Given the description of an element on the screen output the (x, y) to click on. 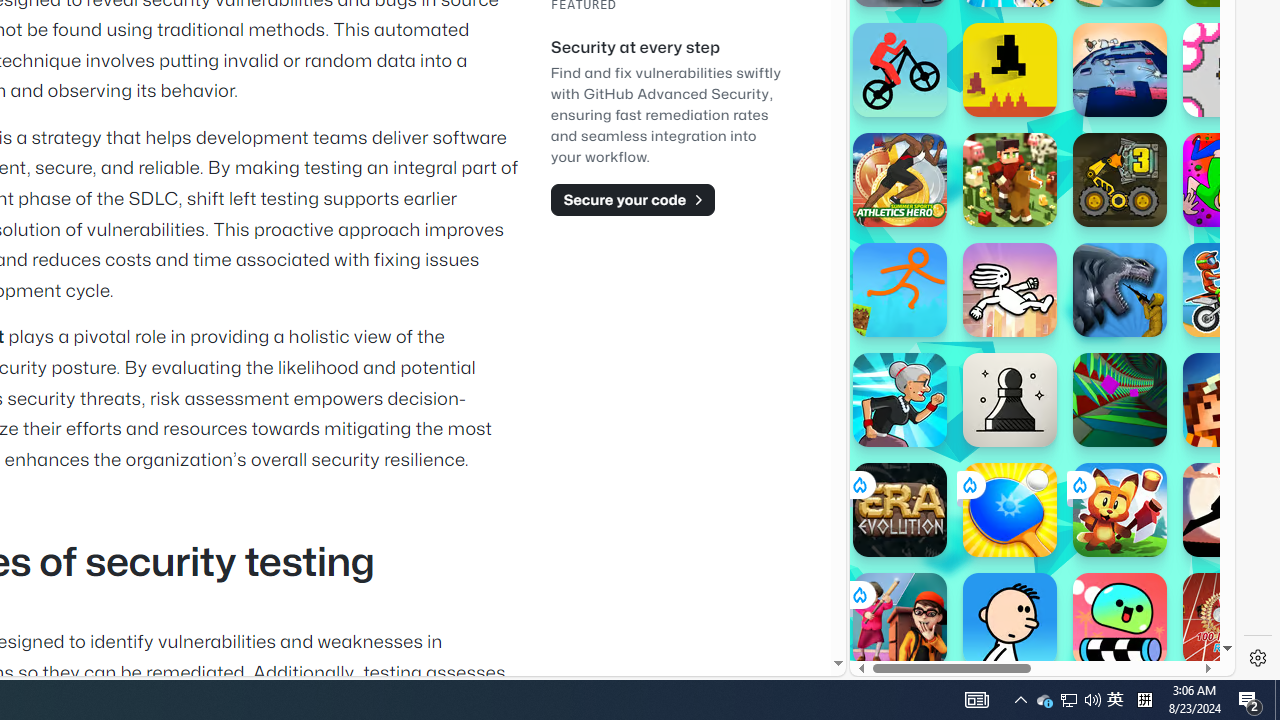
Dreadhead Parkour (1009, 289)
Tunnel Rush Tunnel Rush (1119, 399)
Angry Gran Run (899, 399)
Stickman Bike (899, 69)
Lurkers.io (1229, 399)
SUBWAY SURFERS - Play Online for Free! | Poki (1034, 624)
Combat Reloaded (1092, 300)
JollyWorld JollyWorld (1229, 179)
Hills of Steel (943, 300)
Stickman Bike Stickman Bike (899, 69)
Poor Eddie (1009, 619)
Era: Evolution Era: Evolution (899, 509)
Hills of Steel (925, 290)
Hills of Steel (943, 200)
